Given the description of an element on the screen output the (x, y) to click on. 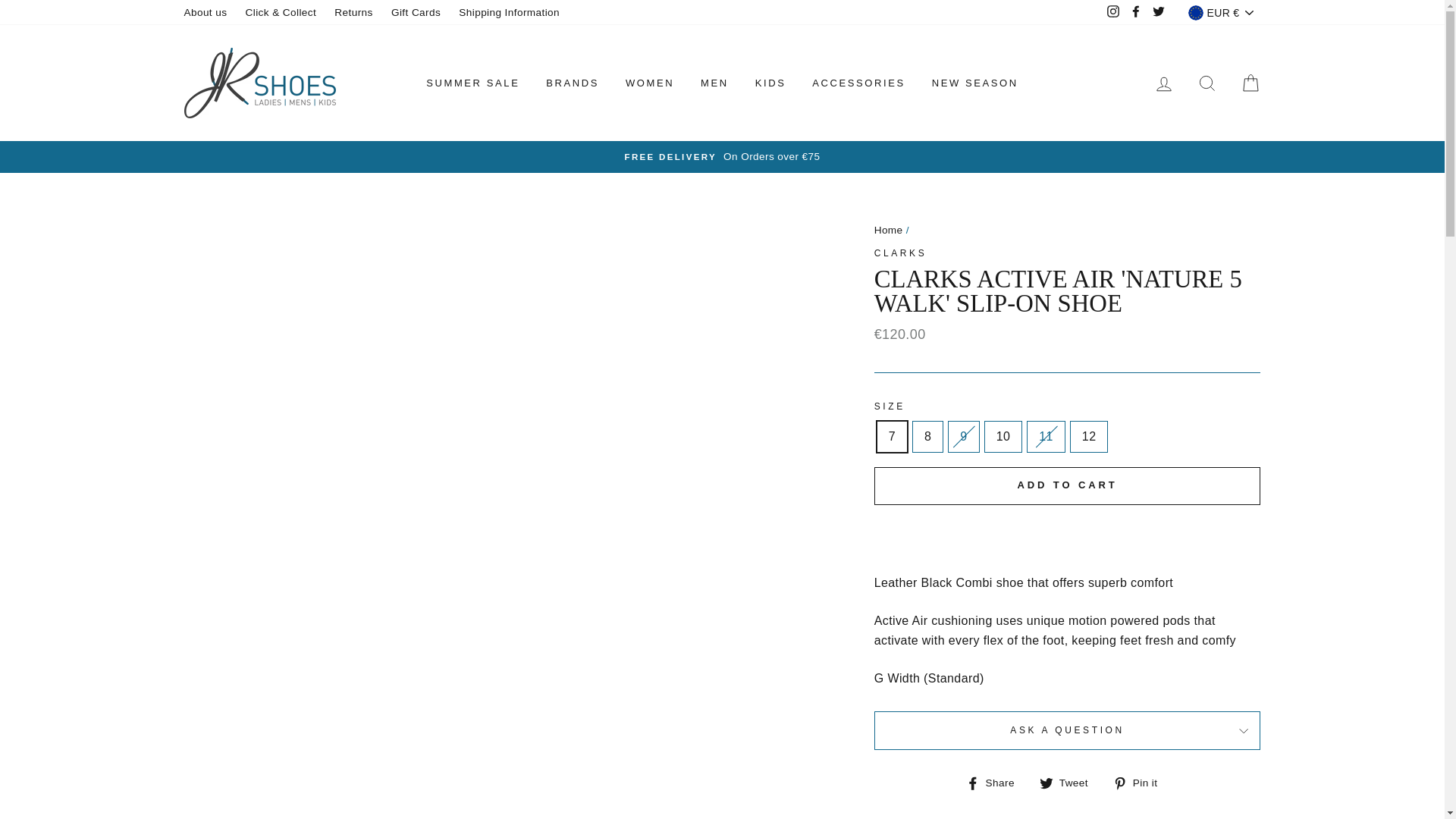
Tweet on Twitter (1069, 782)
Share on Facebook (996, 782)
Pin on Pinterest (1141, 782)
Back to the frontpage (888, 229)
